Given the description of an element on the screen output the (x, y) to click on. 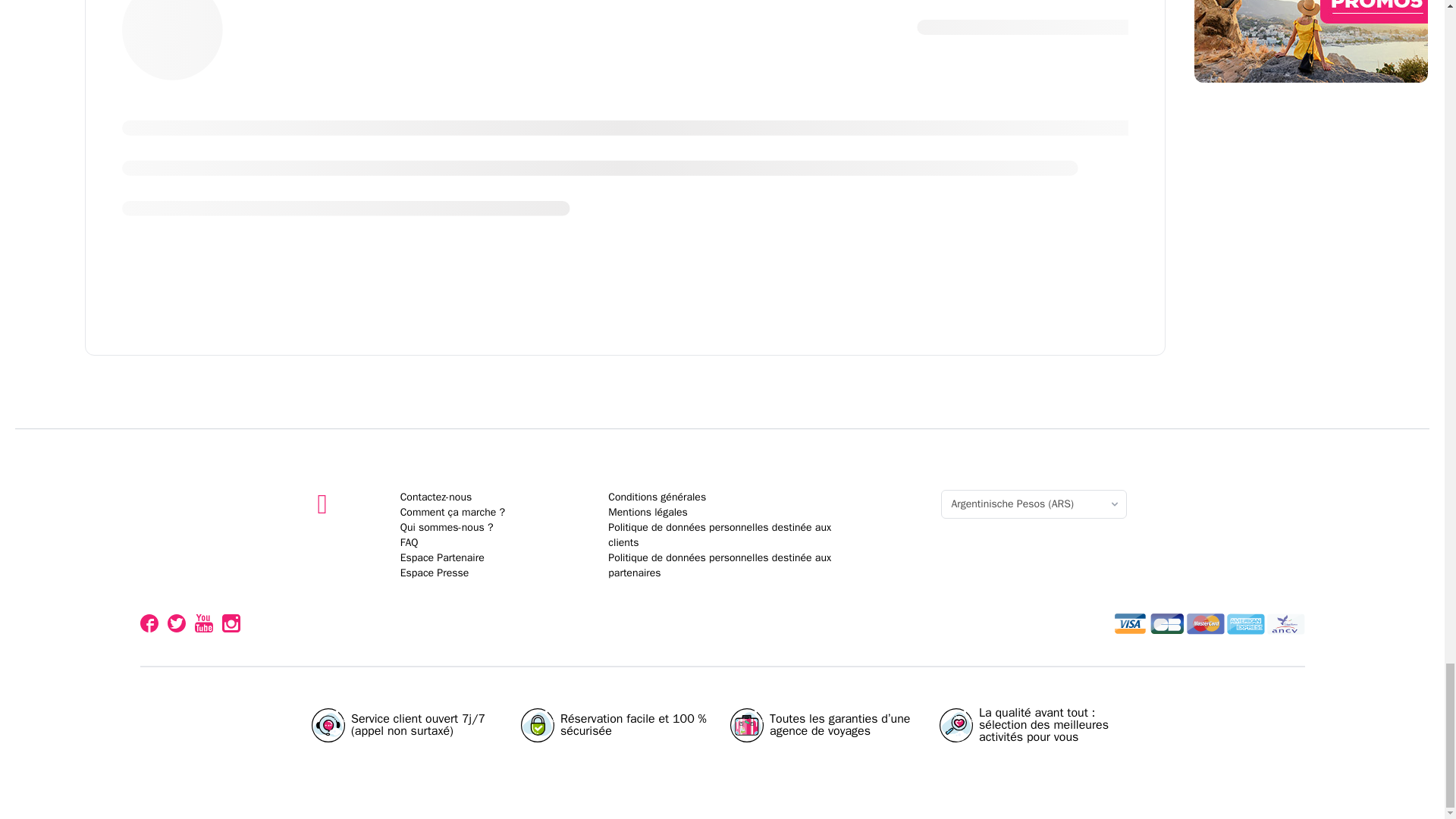
Contactez-nous (435, 496)
